Given the description of an element on the screen output the (x, y) to click on. 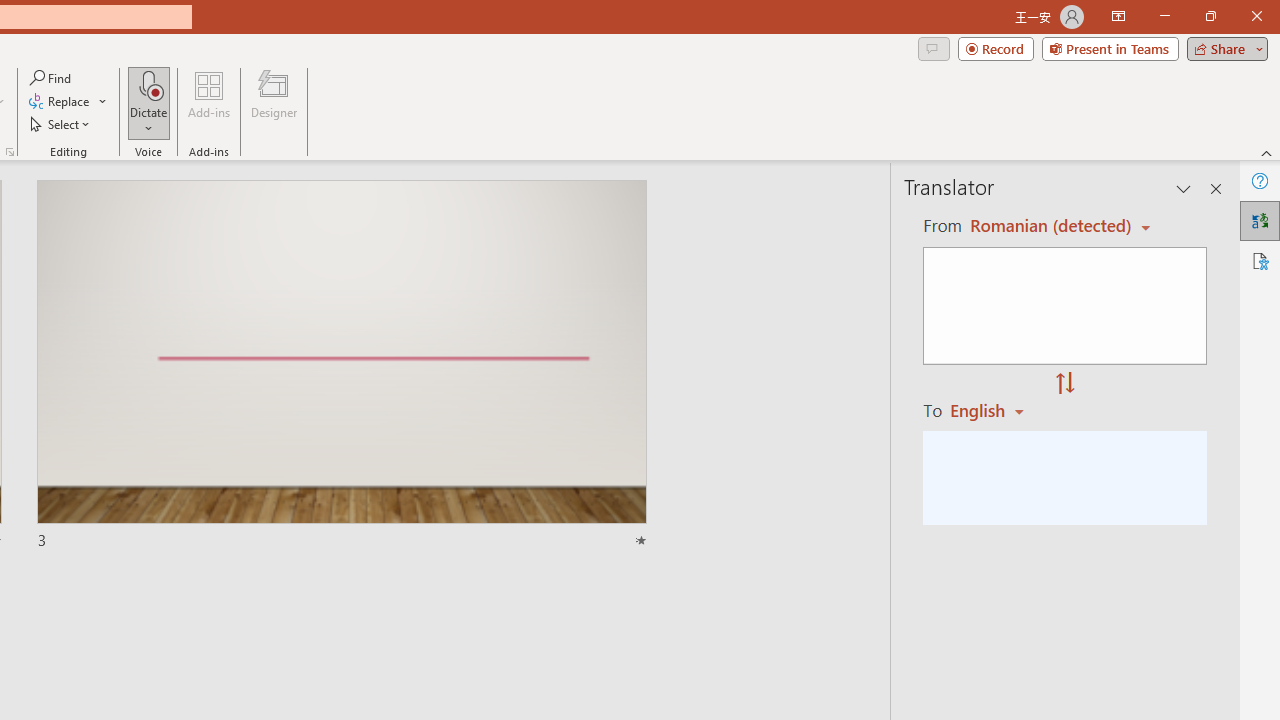
Romanian (994, 409)
